Given the description of an element on the screen output the (x, y) to click on. 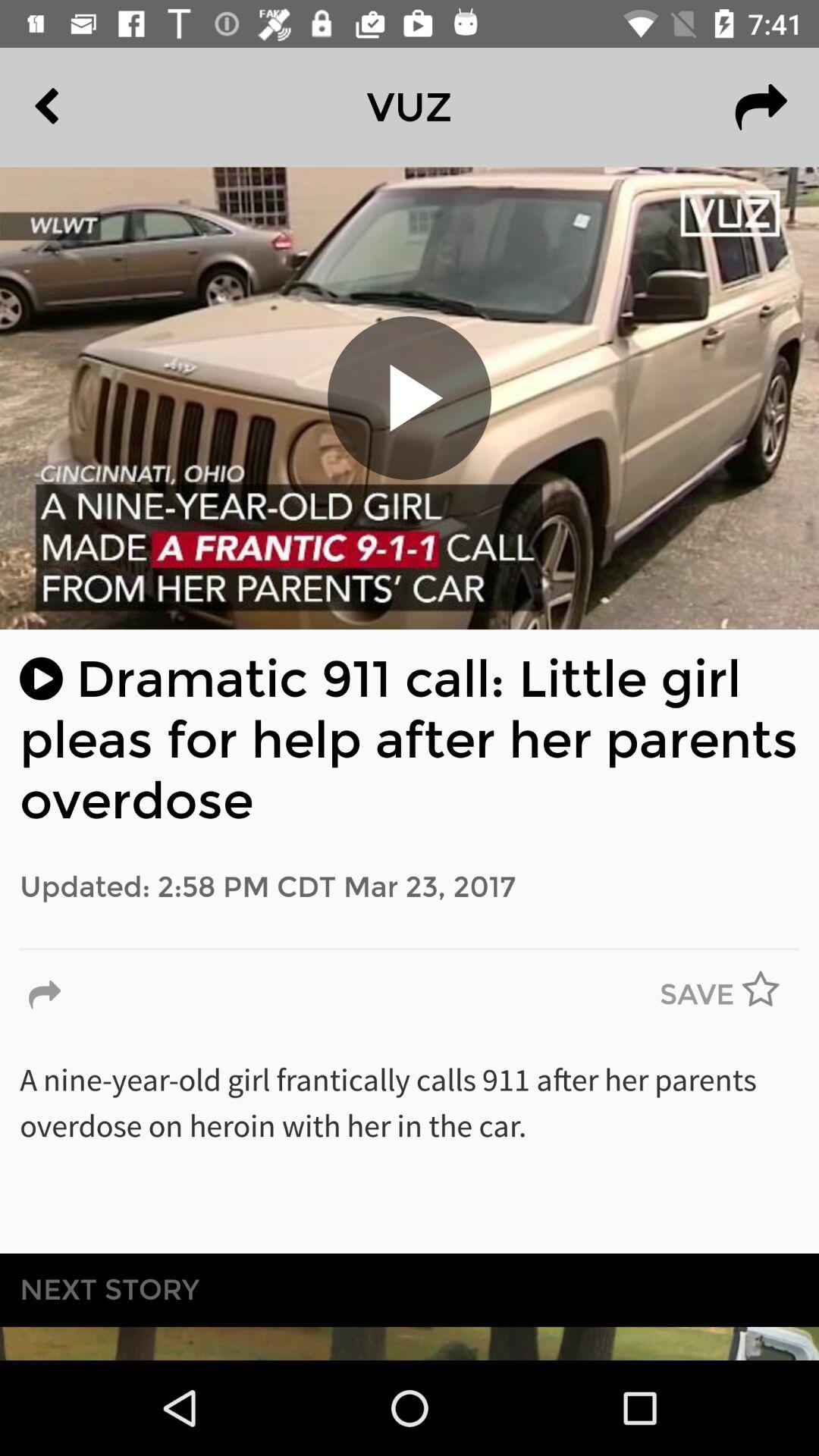
click the item at the top right corner (761, 107)
